Given the description of an element on the screen output the (x, y) to click on. 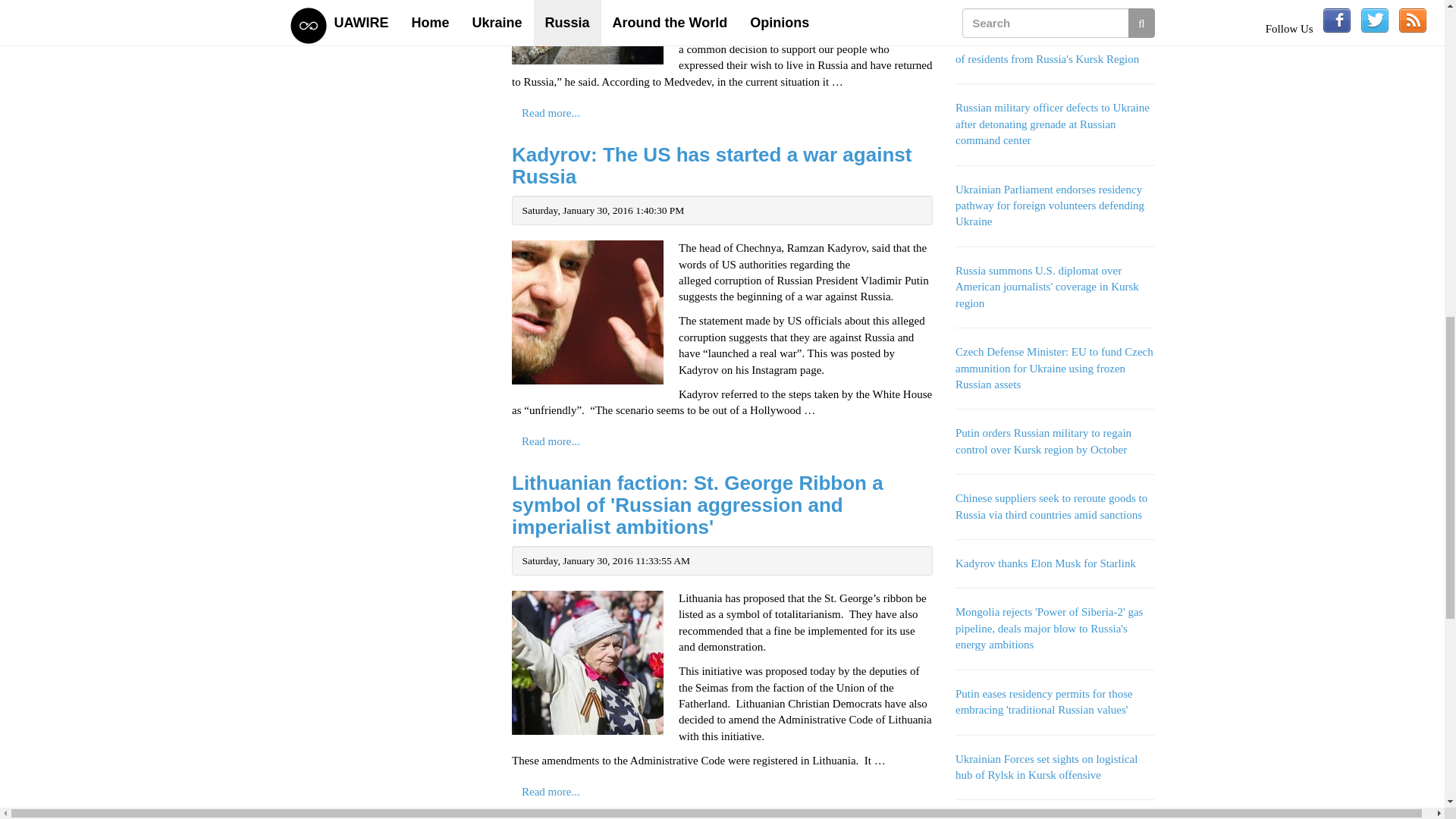
Read more... (550, 112)
Read more... (550, 791)
Read more... (550, 441)
Kadyrov: The US has started a war against Russia (711, 165)
